Given the description of an element on the screen output the (x, y) to click on. 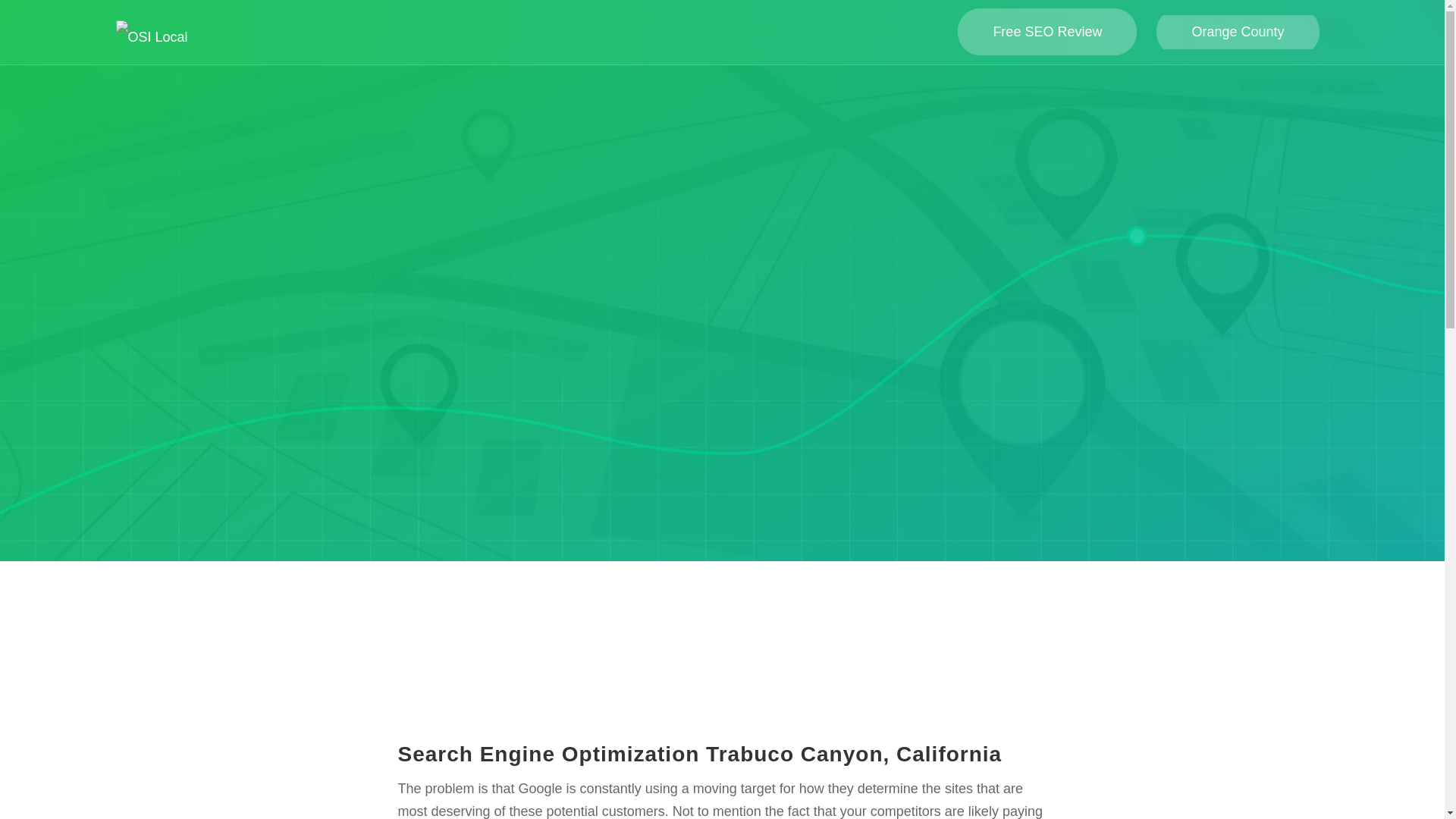
Free SEO Review (1047, 32)
Orange County (1237, 32)
